Given the description of an element on the screen output the (x, y) to click on. 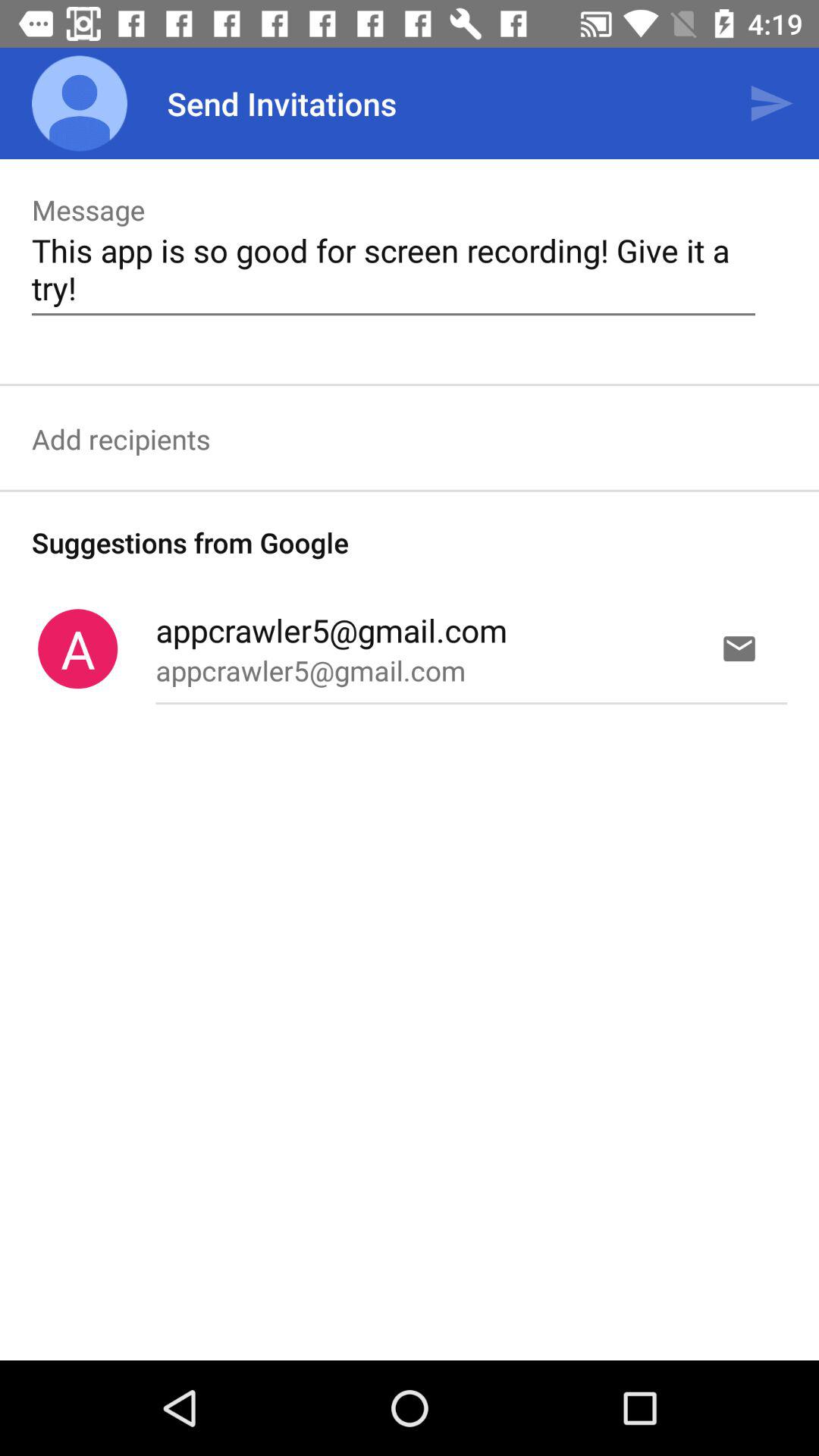
launch the icon next to send invitations item (79, 103)
